Given the description of an element on the screen output the (x, y) to click on. 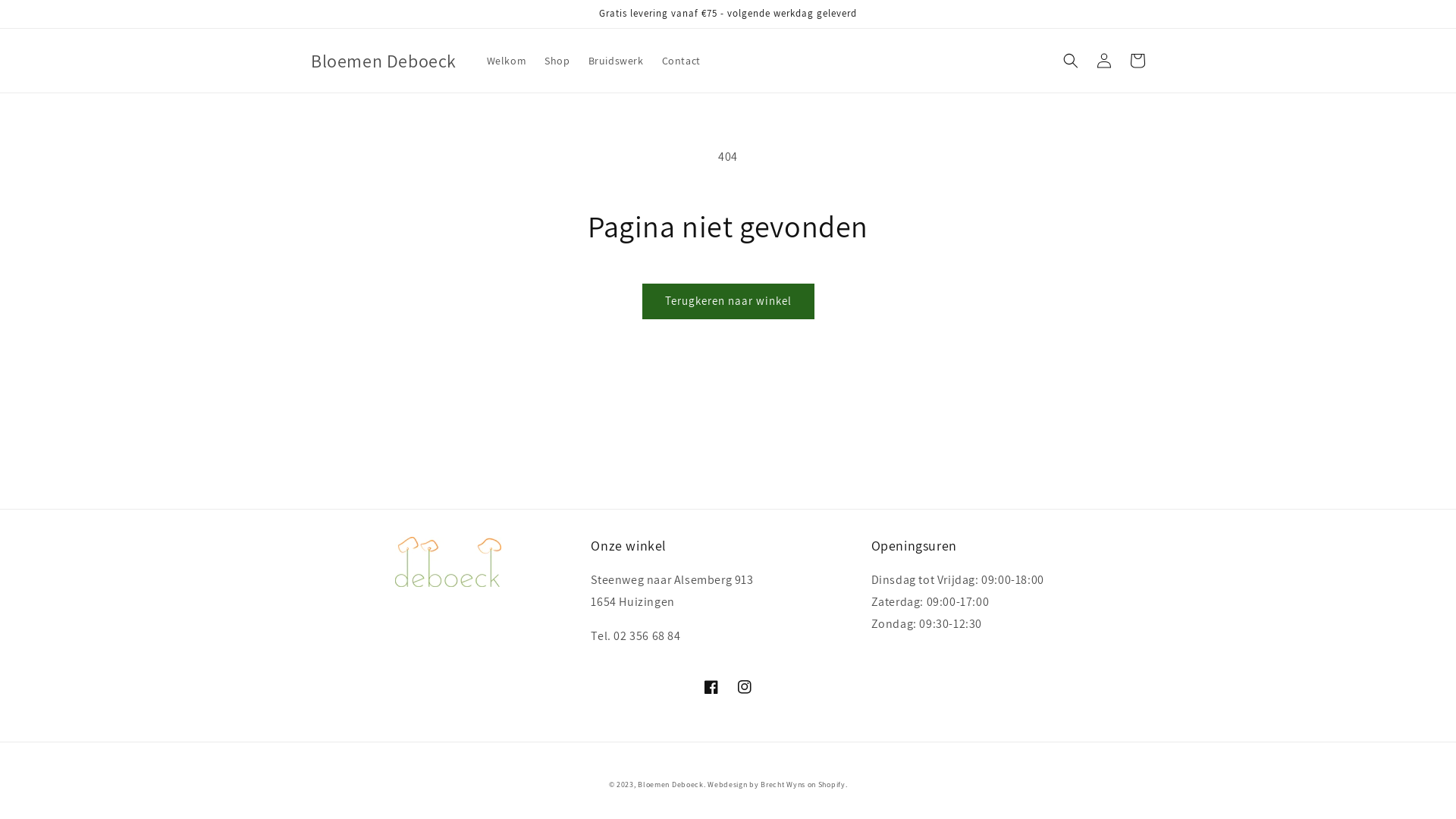
Facebook Element type: text (711, 686)
Bruidswerk Element type: text (615, 60)
Welkom Element type: text (506, 60)
Shop Element type: text (556, 60)
Inloggen Element type: text (1103, 60)
Brecht Wyns Element type: text (782, 784)
Bloemen Deboeck Element type: text (382, 60)
Bloemen Deboeck Element type: text (670, 784)
Terugkeren naar winkel Element type: text (727, 301)
Contact Element type: text (680, 60)
Instagram Element type: text (744, 686)
Winkelwagen Element type: text (1137, 60)
